Given the description of an element on the screen output the (x, y) to click on. 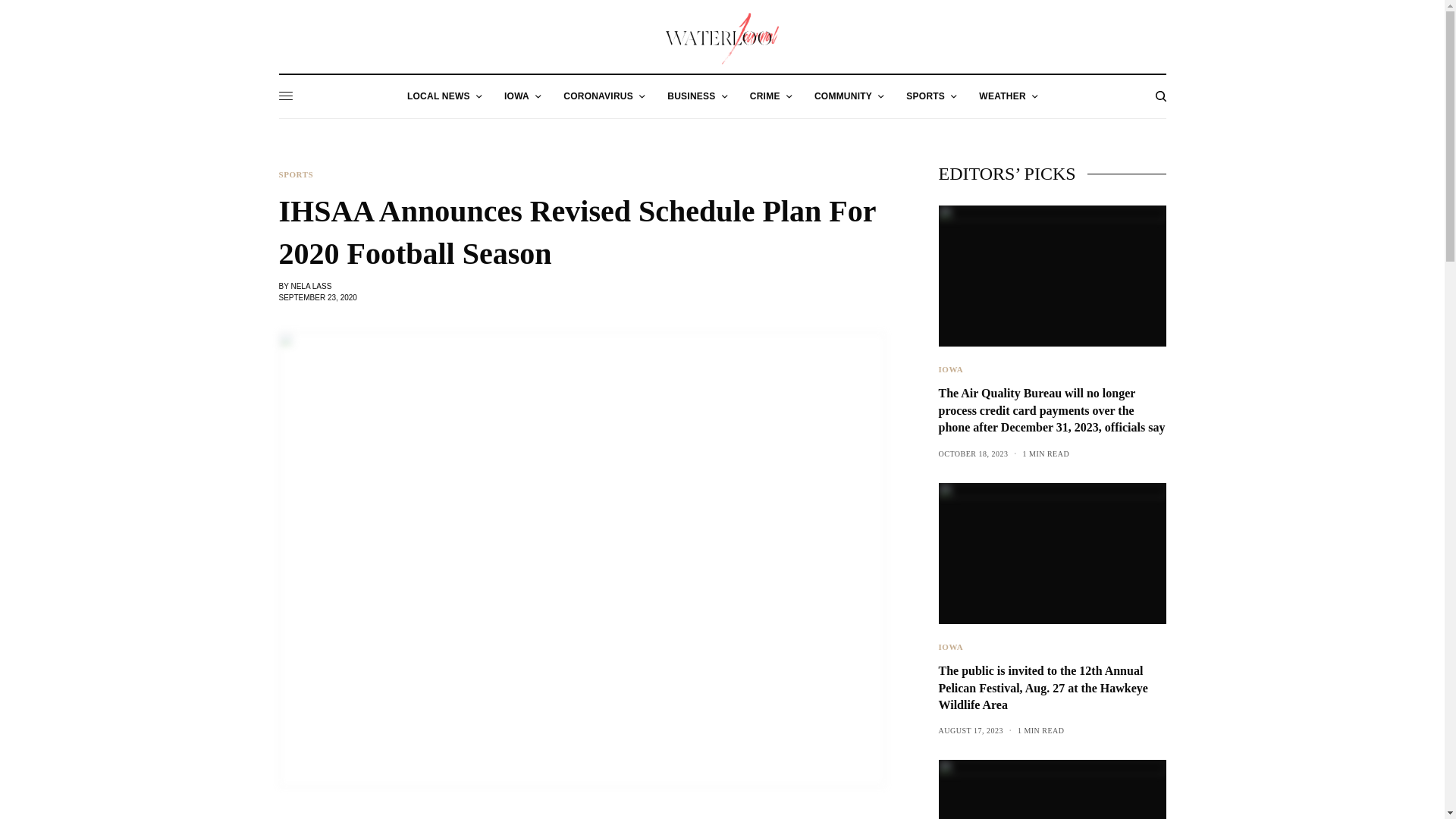
COMMUNITY (848, 95)
LOCAL NEWS (444, 95)
SPORTS (930, 95)
CORONAVIRUS (604, 95)
WEATHER (1007, 95)
Waterloo Journal (721, 38)
CRIME (770, 95)
BUSINESS (696, 95)
